Given the description of an element on the screen output the (x, y) to click on. 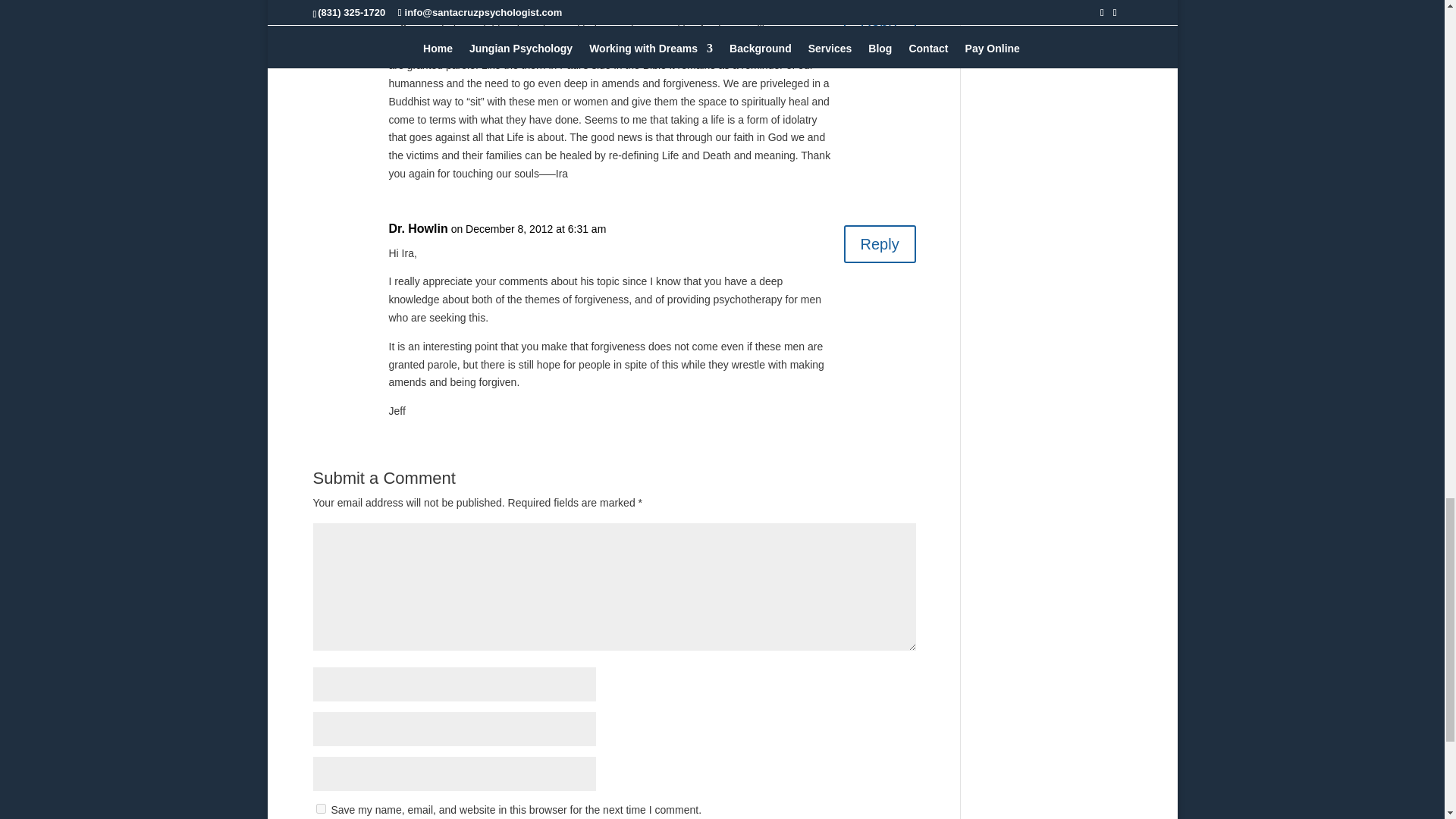
Reply (879, 243)
yes (319, 808)
Reply (879, 20)
